Given the description of an element on the screen output the (x, y) to click on. 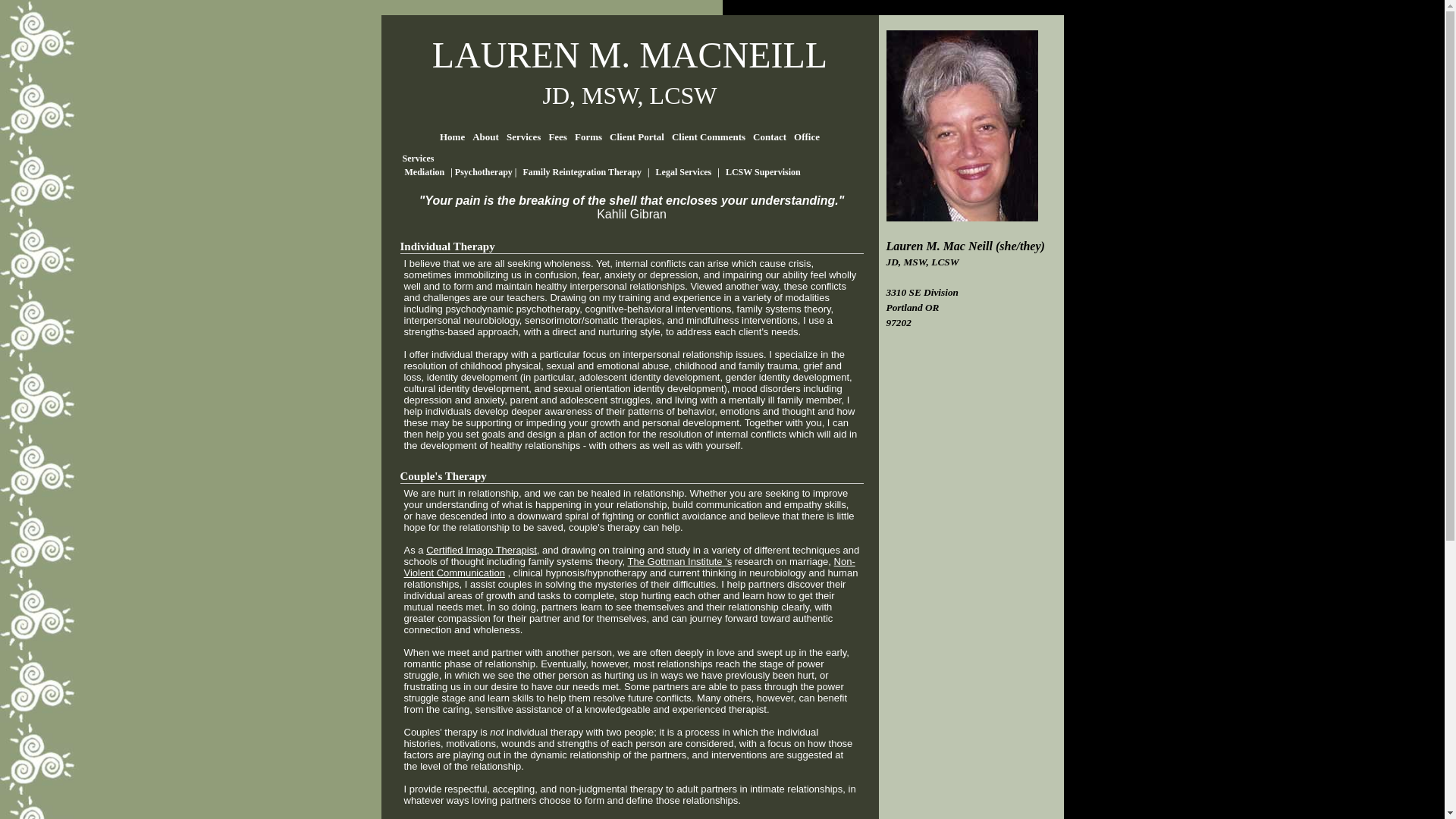
Forms (587, 136)
About (485, 136)
Client Comments (708, 136)
Office (807, 136)
Mediation (424, 172)
Fees (557, 136)
LCSW Supervision (763, 172)
Services (523, 136)
Home (451, 136)
Non-Violent Communication (628, 567)
